Given the description of an element on the screen output the (x, y) to click on. 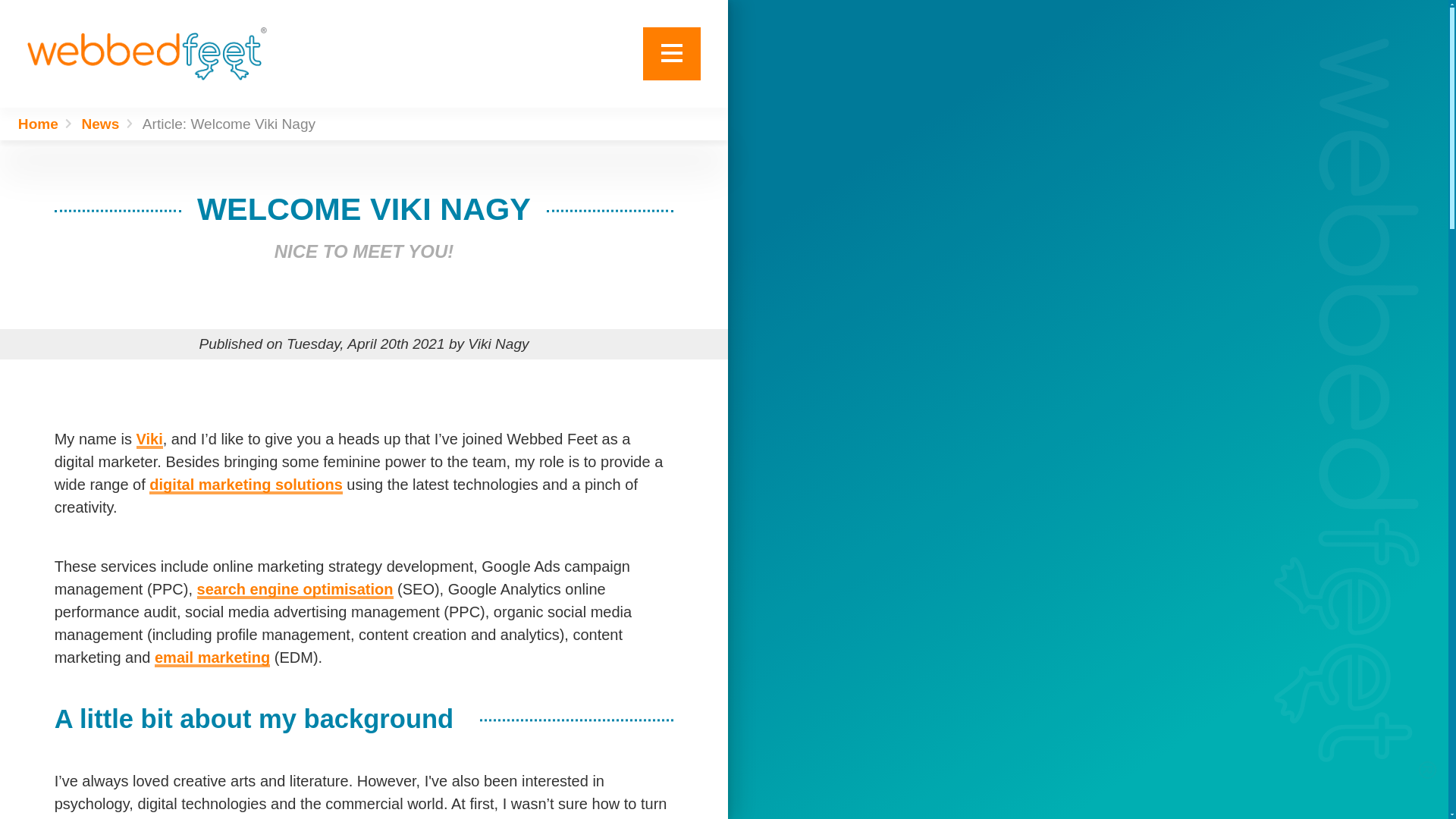
digital marketing solutions (245, 484)
HOME (606, 57)
Viki (149, 438)
Webbed Feet, web developers in Salisbury, Wiltshire (146, 53)
SERVICES (606, 100)
Home (49, 124)
News (111, 124)
email marketing (211, 657)
search engine optimisation (294, 588)
